Given the description of an element on the screen output the (x, y) to click on. 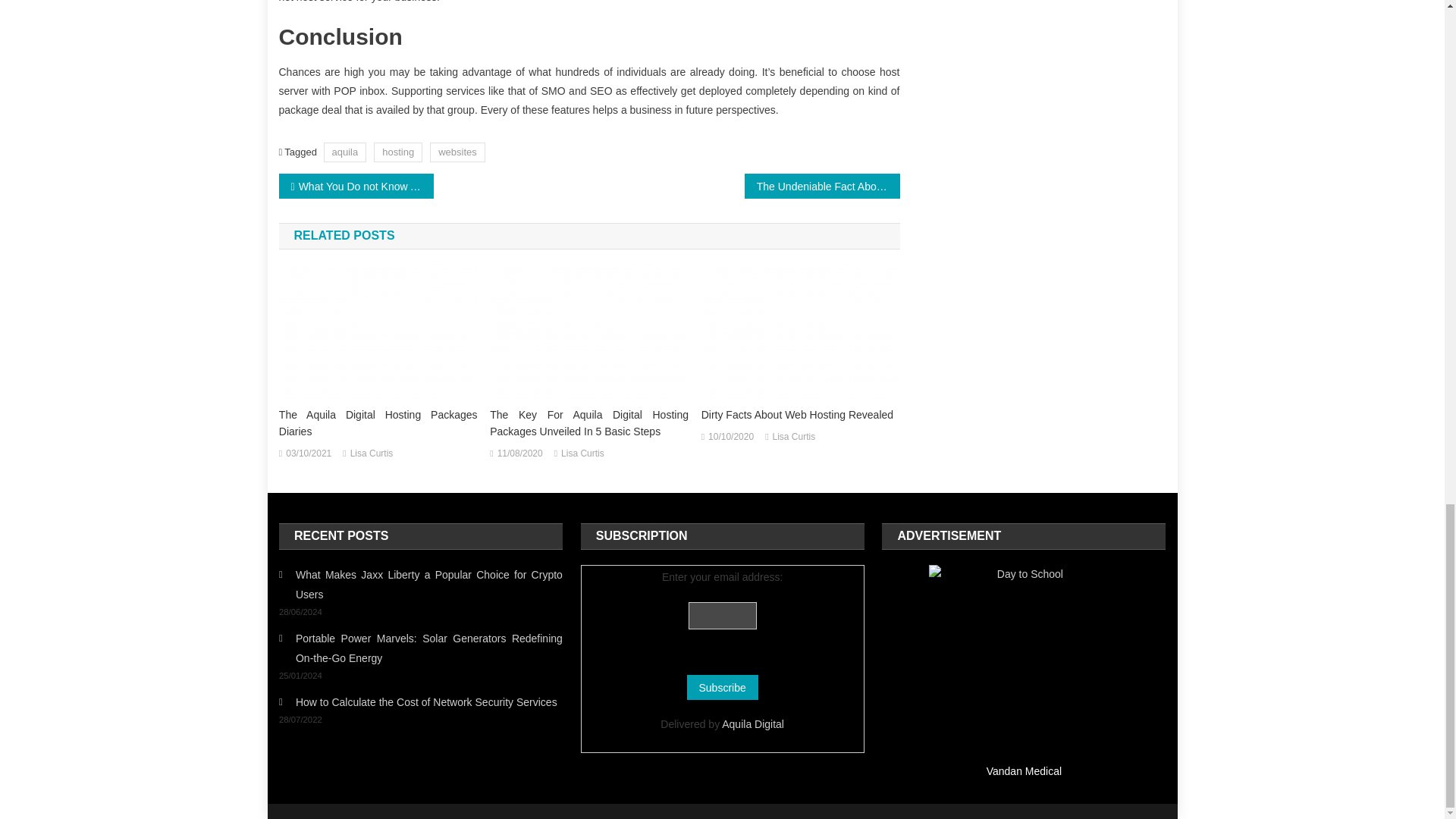
Lisa Curtis (371, 453)
Day to School (1023, 659)
Dirty Facts About Web Hosting Revealed (800, 331)
The Aquila Digital Hosting Packages Diaries (378, 331)
Lisa Curtis (582, 453)
Subscribe (722, 687)
Dirty Facts About Web Hosting Revealed (800, 414)
Lisa Curtis (794, 437)
hosting (398, 151)
The Aquila Digital Hosting Packages Diaries (378, 422)
aquila (344, 151)
